Given the description of an element on the screen output the (x, y) to click on. 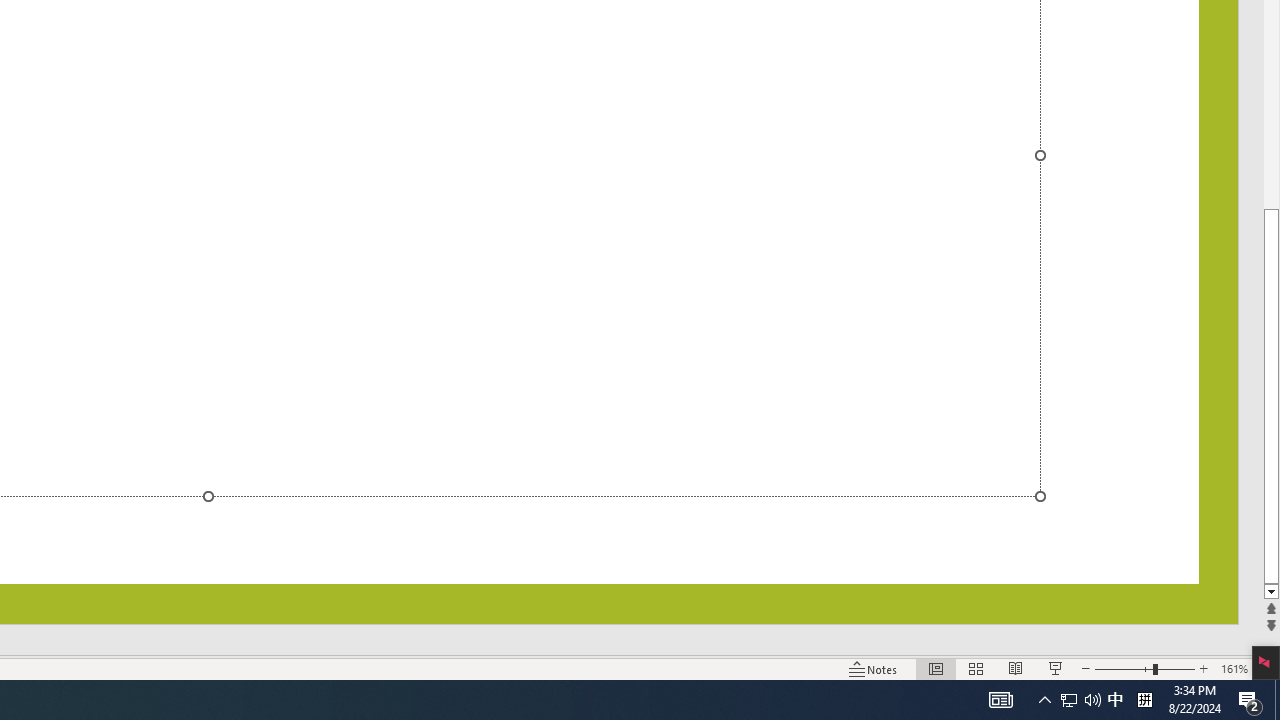
Zoom 161% (1234, 668)
